Given the description of an element on the screen output the (x, y) to click on. 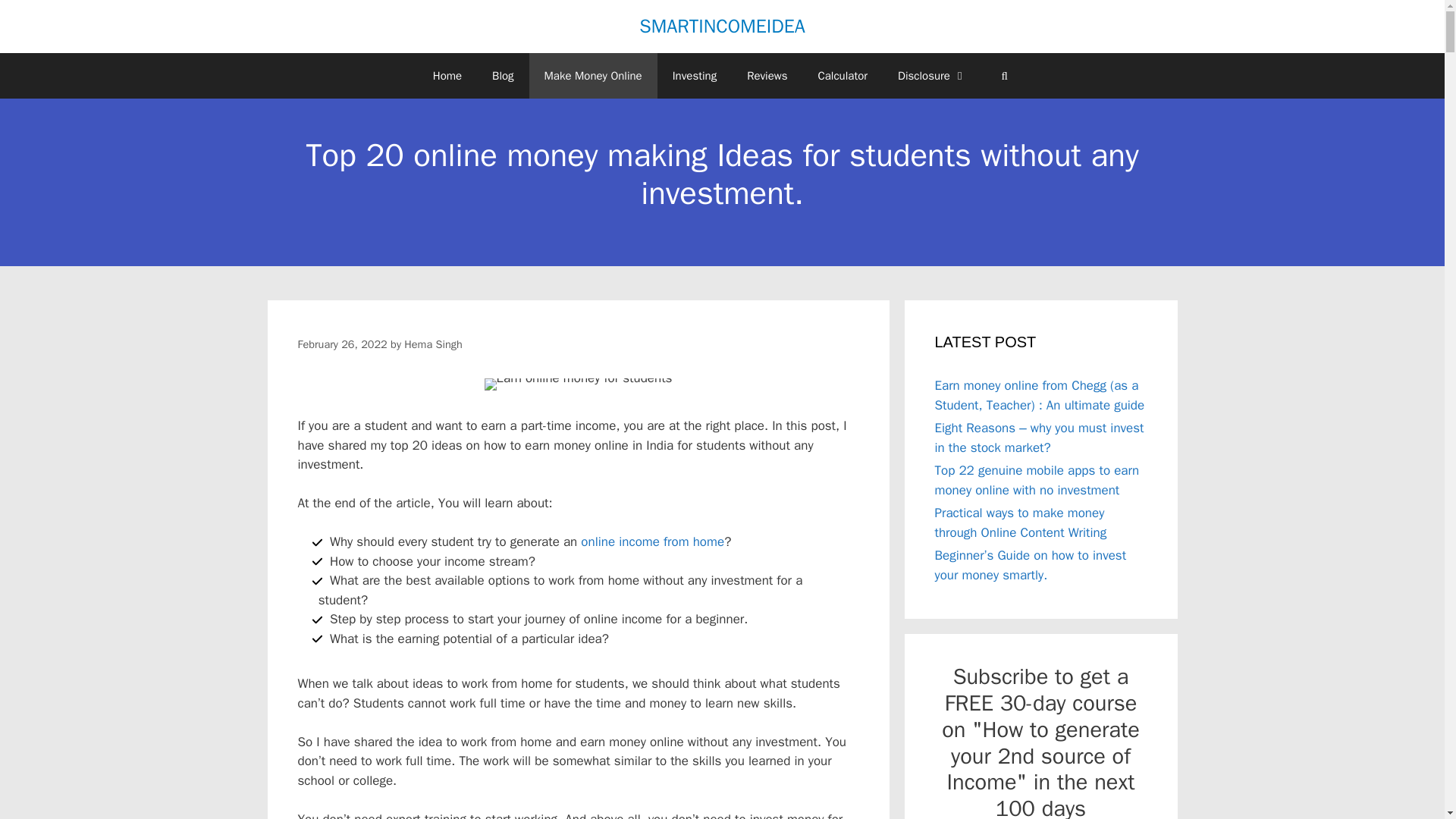
SMARTINCOMEIDEA (722, 25)
Investing (695, 75)
Disclosure (931, 75)
Blog (502, 75)
Make Money Online (593, 75)
Calculator (842, 75)
Reviews (767, 75)
Home (447, 75)
Hema Singh (432, 343)
online income from home (651, 541)
